Given the description of an element on the screen output the (x, y) to click on. 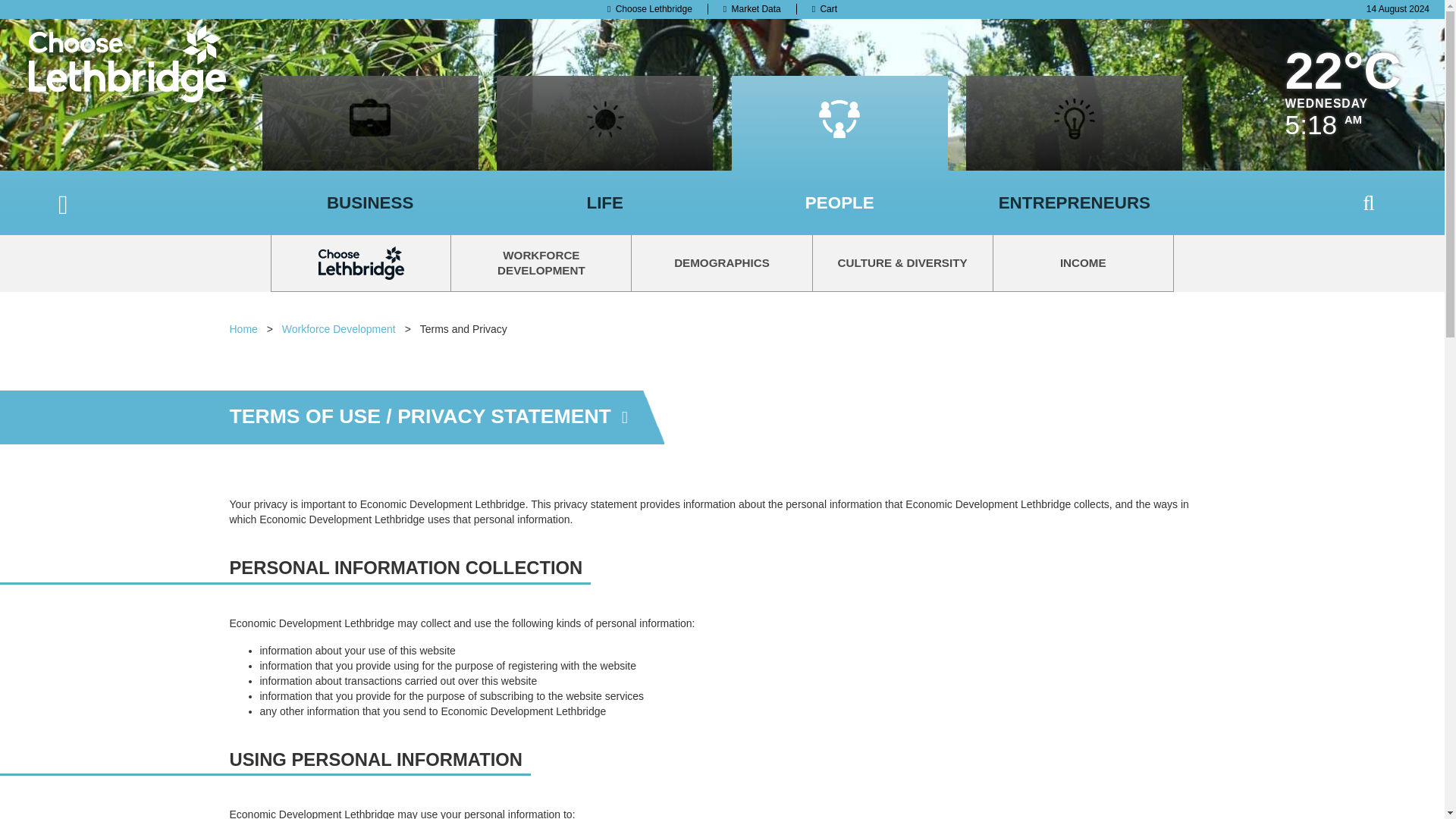
Cart (823, 9)
We look forward to welcoming you! (902, 263)
Business (369, 202)
LIFE (604, 202)
WORKFORCE DEVELOPMENT (540, 263)
Entrepreneurs (1074, 202)
People (839, 202)
Life (604, 202)
ENTREPRENEURS (1074, 202)
PEOPLE (839, 202)
